Given the description of an element on the screen output the (x, y) to click on. 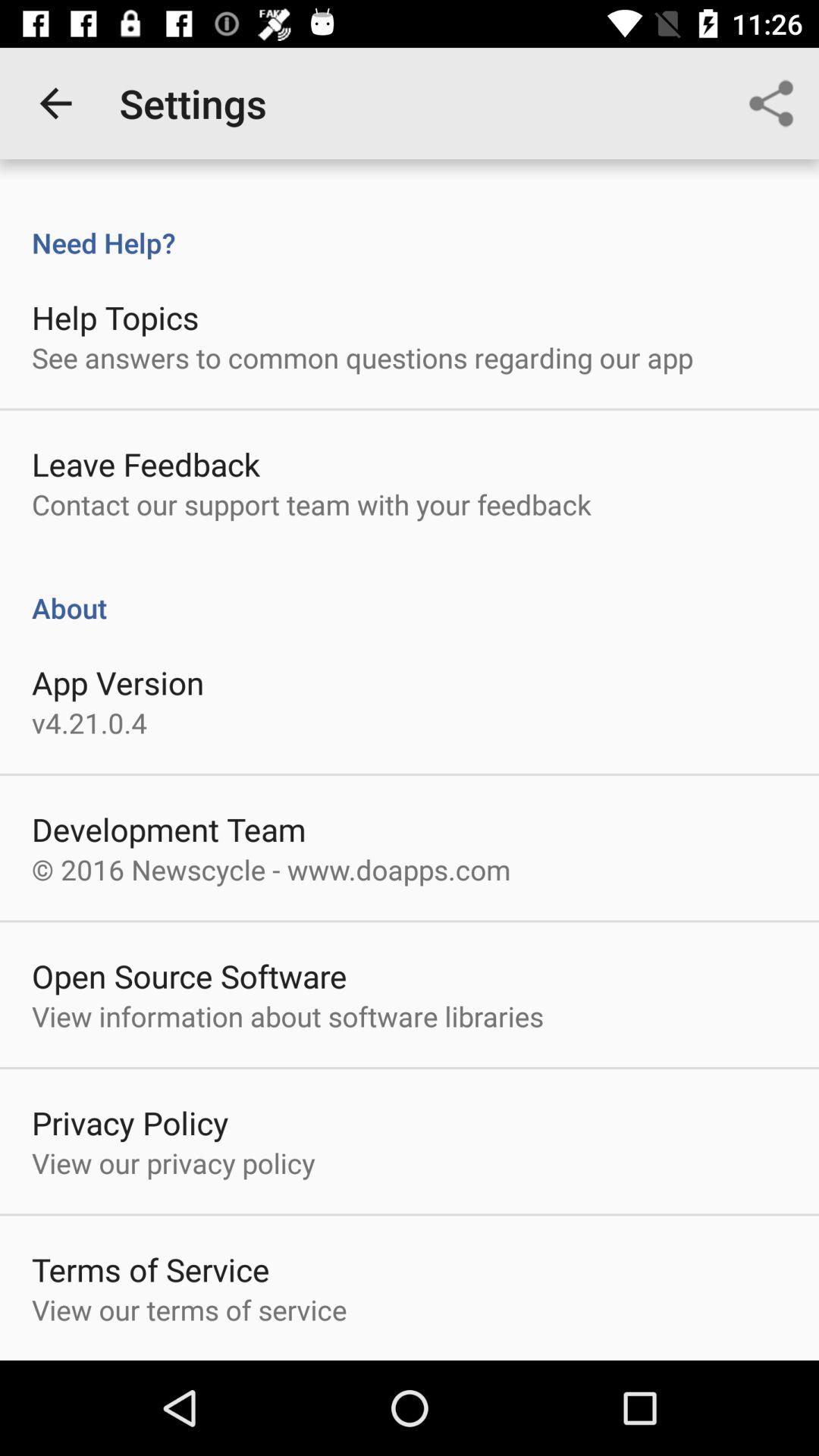
turn on the item below v4 21 0 item (168, 828)
